Given the description of an element on the screen output the (x, y) to click on. 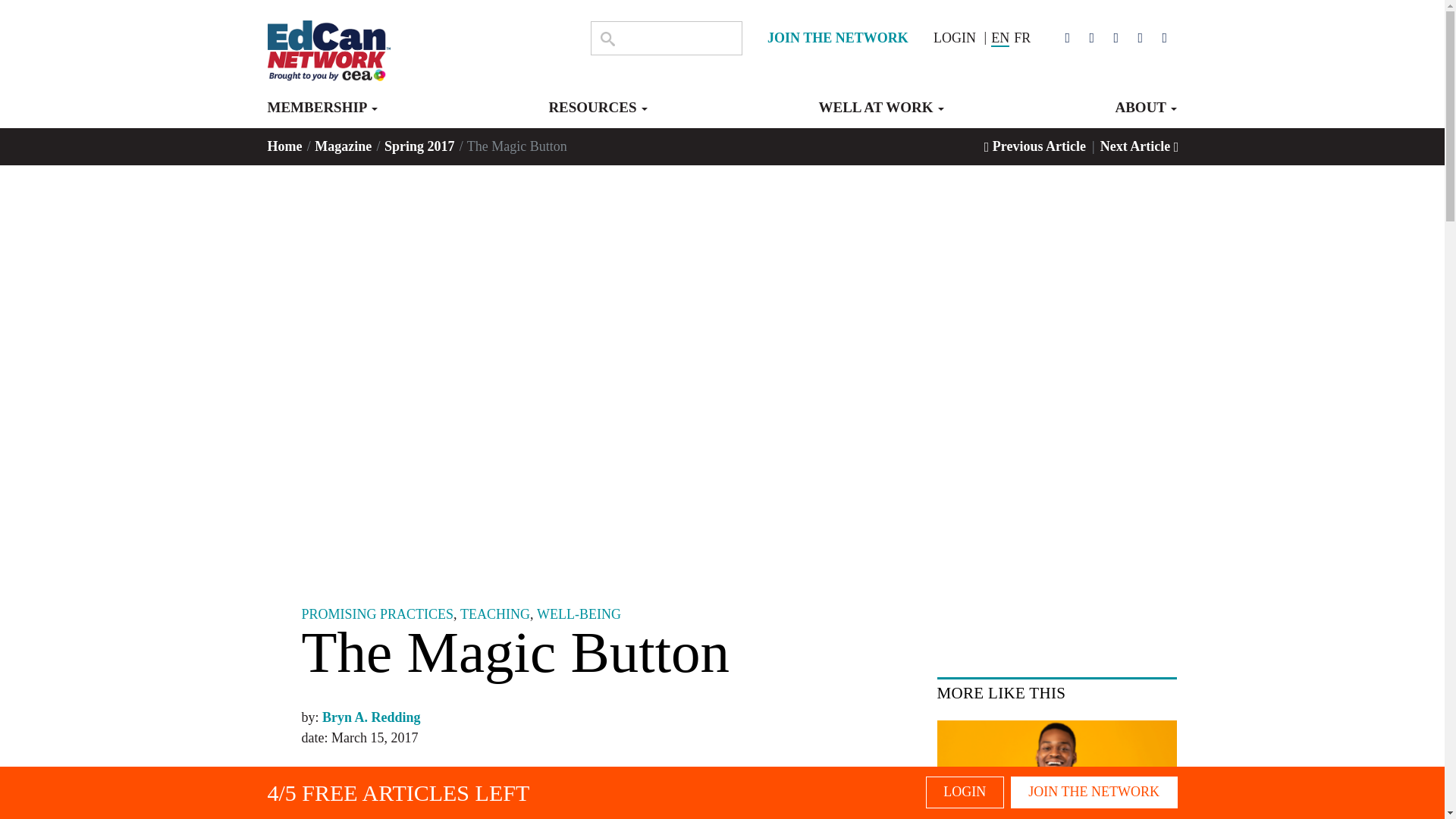
RESOURCES (597, 113)
WELL AT WORK (881, 113)
JOIN THE NETWORK (837, 37)
Home (285, 145)
Well at Work (881, 113)
Submit search (607, 38)
Previous Article (1035, 145)
About (1145, 113)
LOGIN (954, 37)
Resources (597, 113)
Membership (321, 113)
Spring 2017 (421, 145)
FR (1021, 37)
Next Article (1139, 145)
ABOUT (1145, 113)
